Given the description of an element on the screen output the (x, y) to click on. 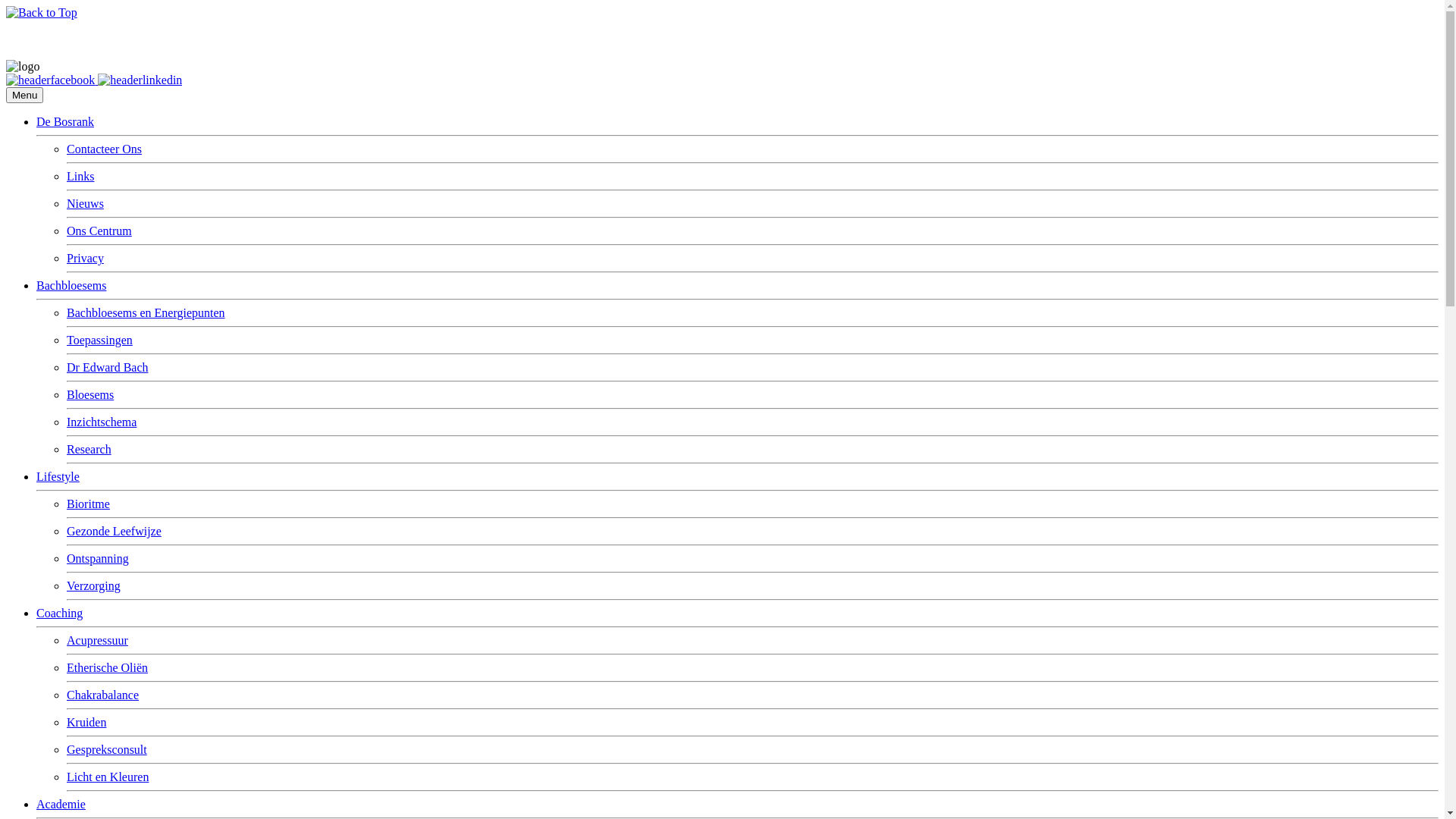
Nieuws Element type: text (84, 203)
Academie Element type: text (60, 803)
Research Element type: text (88, 448)
Toepassingen Element type: text (99, 339)
Lifestyle Element type: text (57, 476)
Contacteer Ons Element type: text (103, 148)
Bachbloesems Element type: text (71, 285)
Gezonde Leefwijze Element type: text (113, 530)
Verzorging Element type: text (93, 585)
Privacy Element type: text (84, 257)
Acupressuur Element type: text (97, 639)
Ons Centrum Element type: text (98, 230)
Bachbloesems en Energiepunten Element type: text (145, 312)
Coaching Element type: text (59, 612)
Inzichtschema Element type: text (101, 421)
Chakrabalance Element type: text (102, 694)
Bloesems Element type: text (89, 394)
Dr Edward Bach Element type: text (107, 366)
Links Element type: text (80, 175)
Bioritme Element type: text (87, 503)
Licht en Kleuren Element type: text (107, 776)
Kruiden Element type: text (86, 721)
Menu Element type: text (24, 95)
De Bosrank Element type: text (65, 121)
Gespreksconsult Element type: text (106, 749)
Ontspanning Element type: text (97, 558)
